Given the description of an element on the screen output the (x, y) to click on. 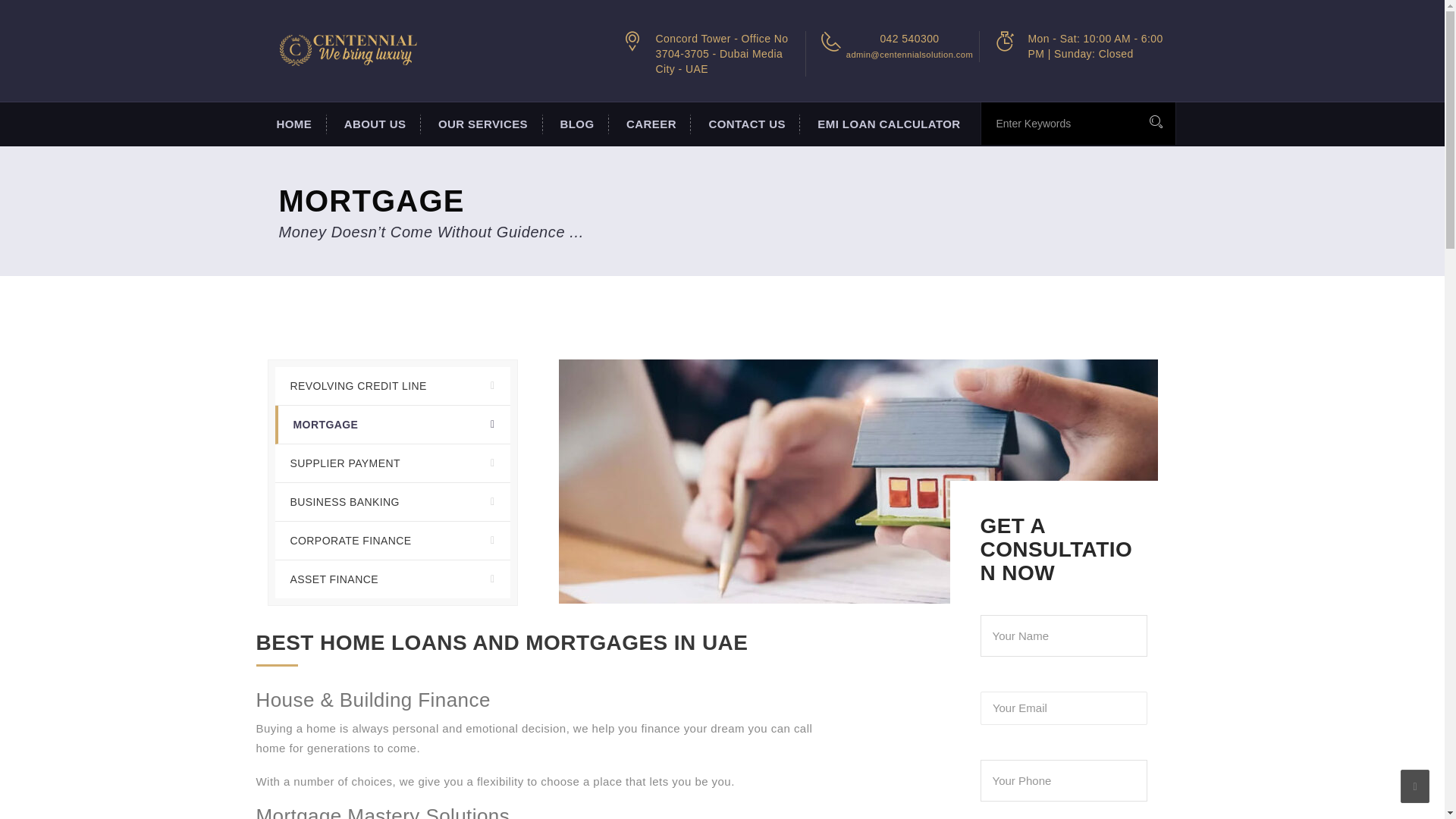
042 540300 (909, 38)
BLOG (576, 124)
ABOUT US (373, 124)
HOME (292, 124)
MORTGAGE (392, 424)
Concord Tower - Office No 3704-3705 - Dubai Media City - UAE (721, 53)
REVOLVING CREDIT LINE (392, 385)
SUPPLIER PAYMENT (392, 463)
CAREER (649, 124)
EMI LOAN CALCULATOR (886, 124)
OUR SERVICES (481, 124)
CONTACT US (744, 124)
